Given the description of an element on the screen output the (x, y) to click on. 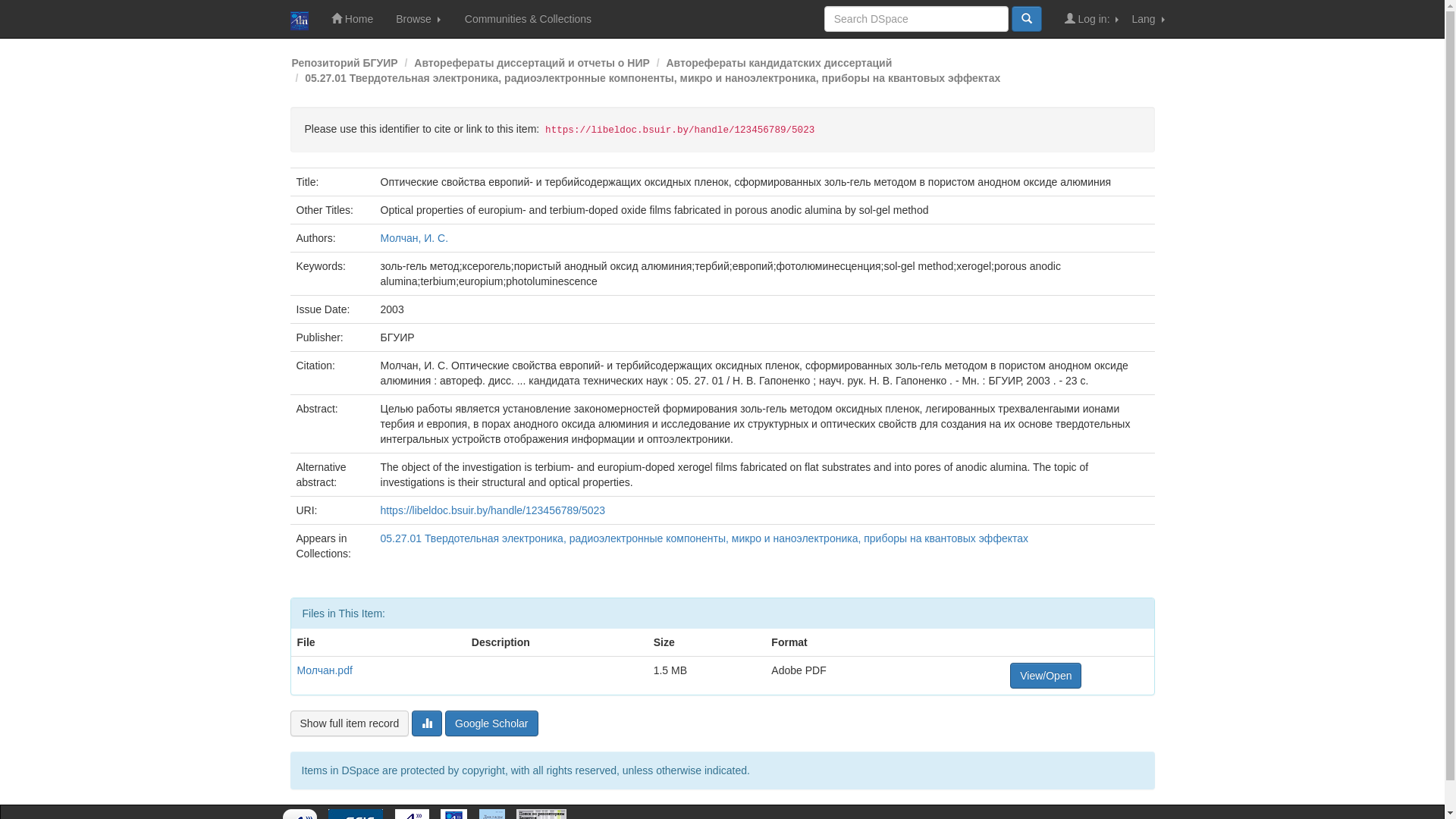
Google Scholar Element type: text (491, 723)
Communities & Collections Element type: text (527, 18)
Browse Element type: text (418, 18)
View/Open Element type: text (1045, 675)
Show full item record Element type: text (348, 723)
Log in: Element type: text (1092, 18)
Home Element type: text (352, 18)
https://libeldoc.bsuir.by/handle/123456789/5023 Element type: text (492, 510)
Lang Element type: text (1148, 18)
